Given the description of an element on the screen output the (x, y) to click on. 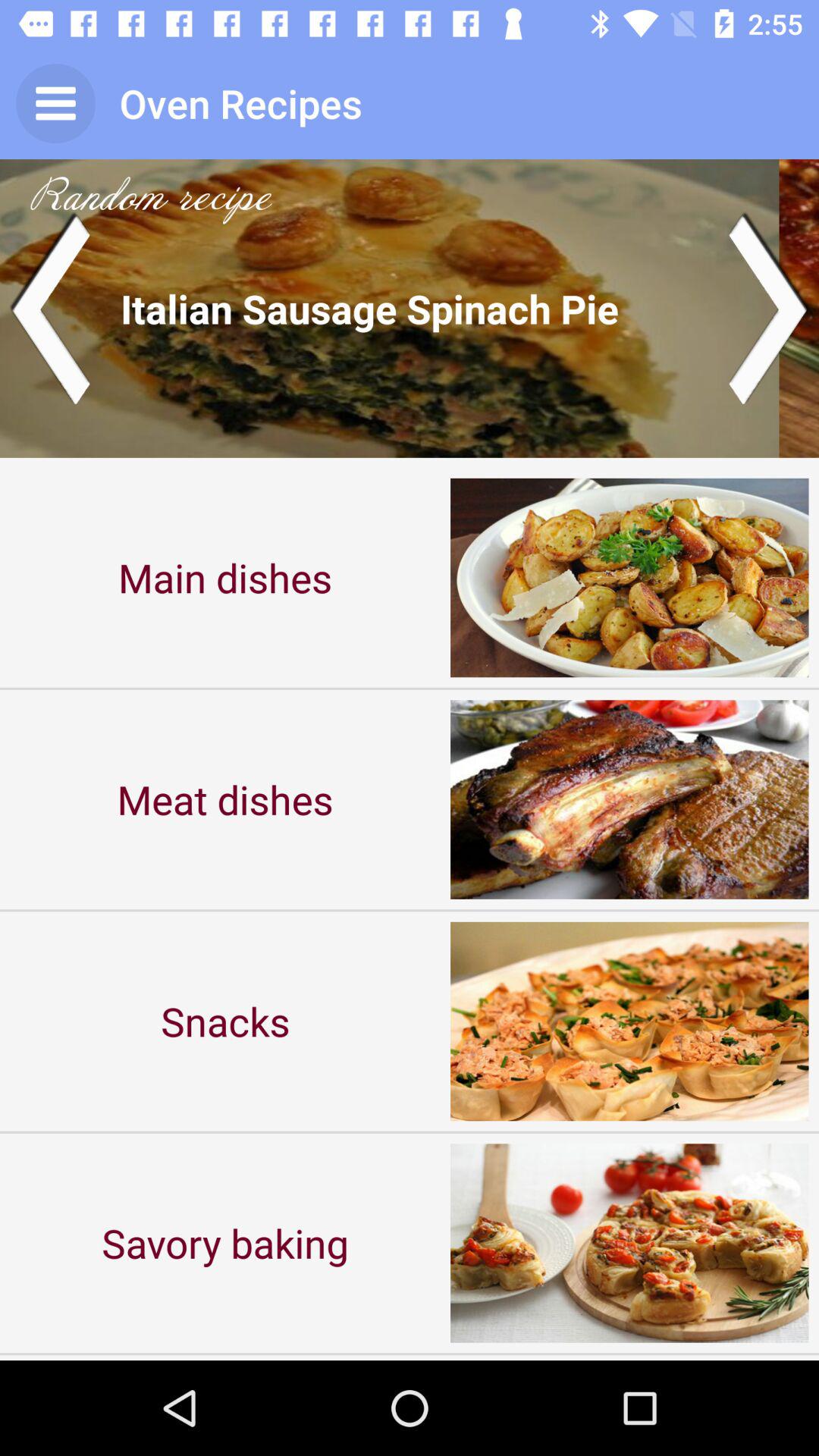
turn on the item above savory baking icon (225, 1020)
